Given the description of an element on the screen output the (x, y) to click on. 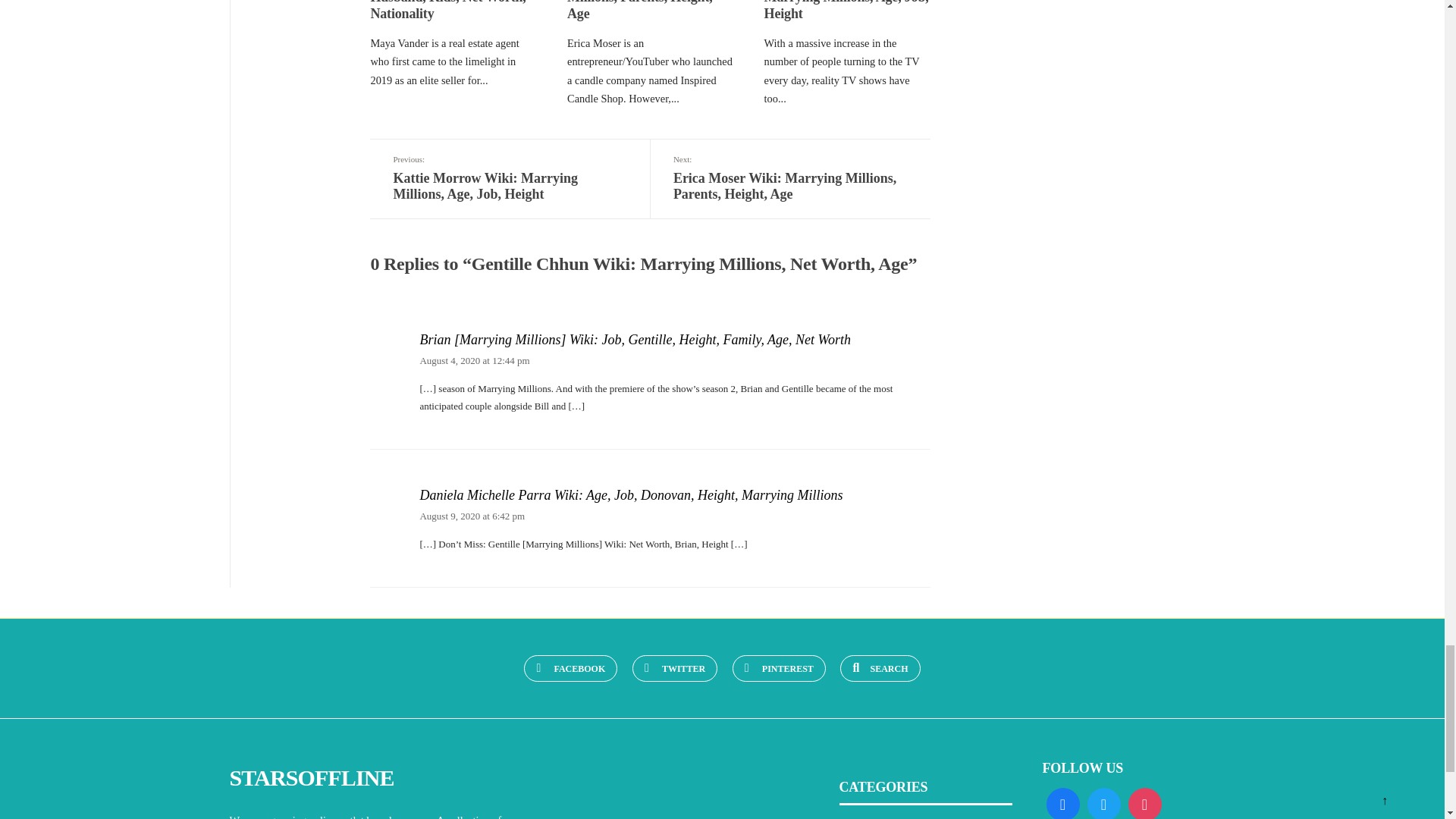
Pinterest (778, 668)
Maya Vander Wiki: Husband, Kids, Net Worth, Nationality (447, 11)
Kattie Morrow Wiki: Marrying Millions, Age, Job, Height (846, 11)
August 4, 2020 at 12:44 pm (474, 360)
August 9, 2020 at 6:42 pm (471, 515)
Erica Moser Wiki: Marrying Millions, Parents, Height, Age (649, 11)
FACEBOOK (570, 668)
